Given the description of an element on the screen output the (x, y) to click on. 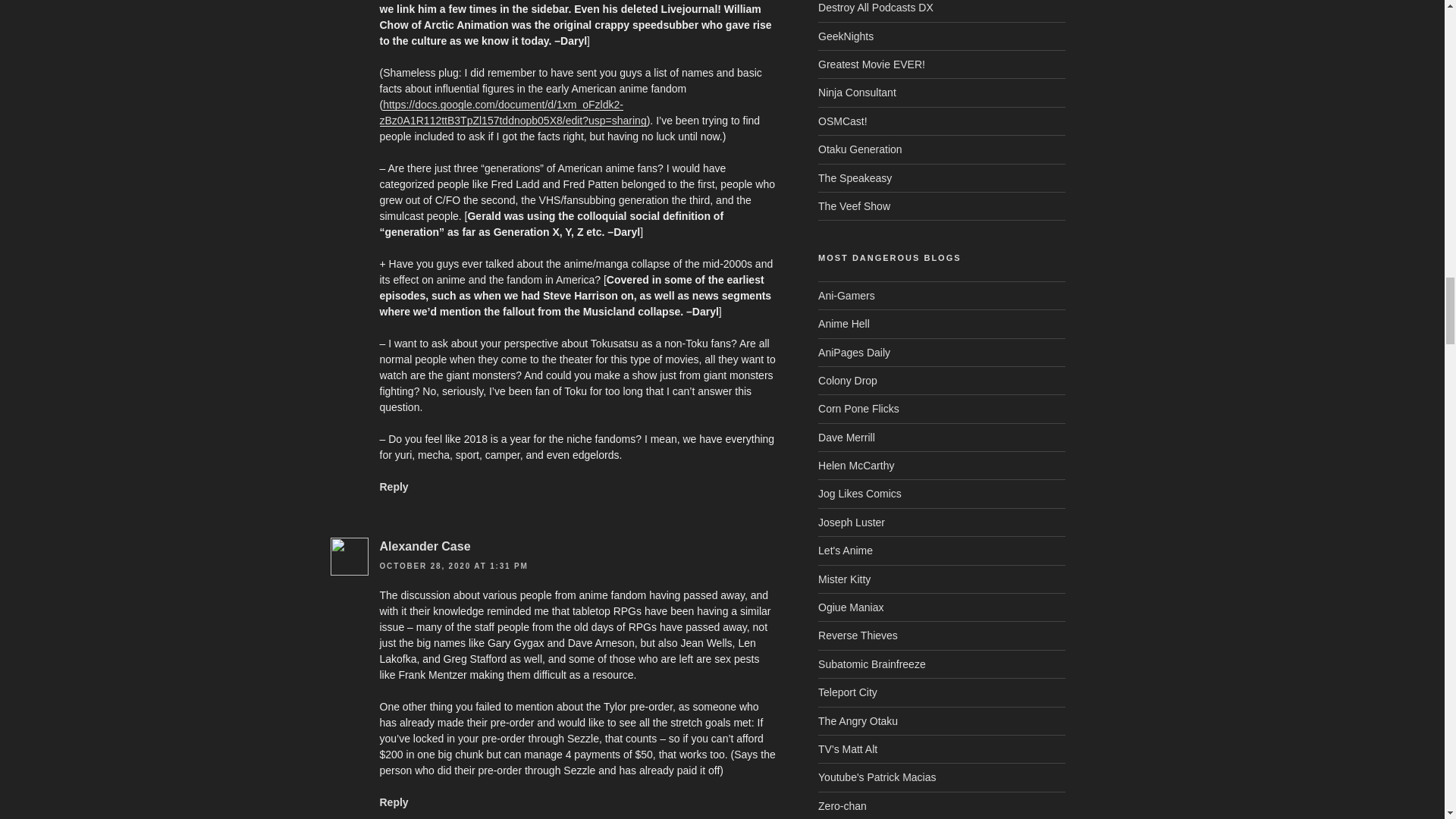
Reply (392, 802)
OCTOBER 28, 2020 AT 1:31 PM (452, 565)
Reply (392, 486)
Alexander Case (424, 545)
